Given the description of an element on the screen output the (x, y) to click on. 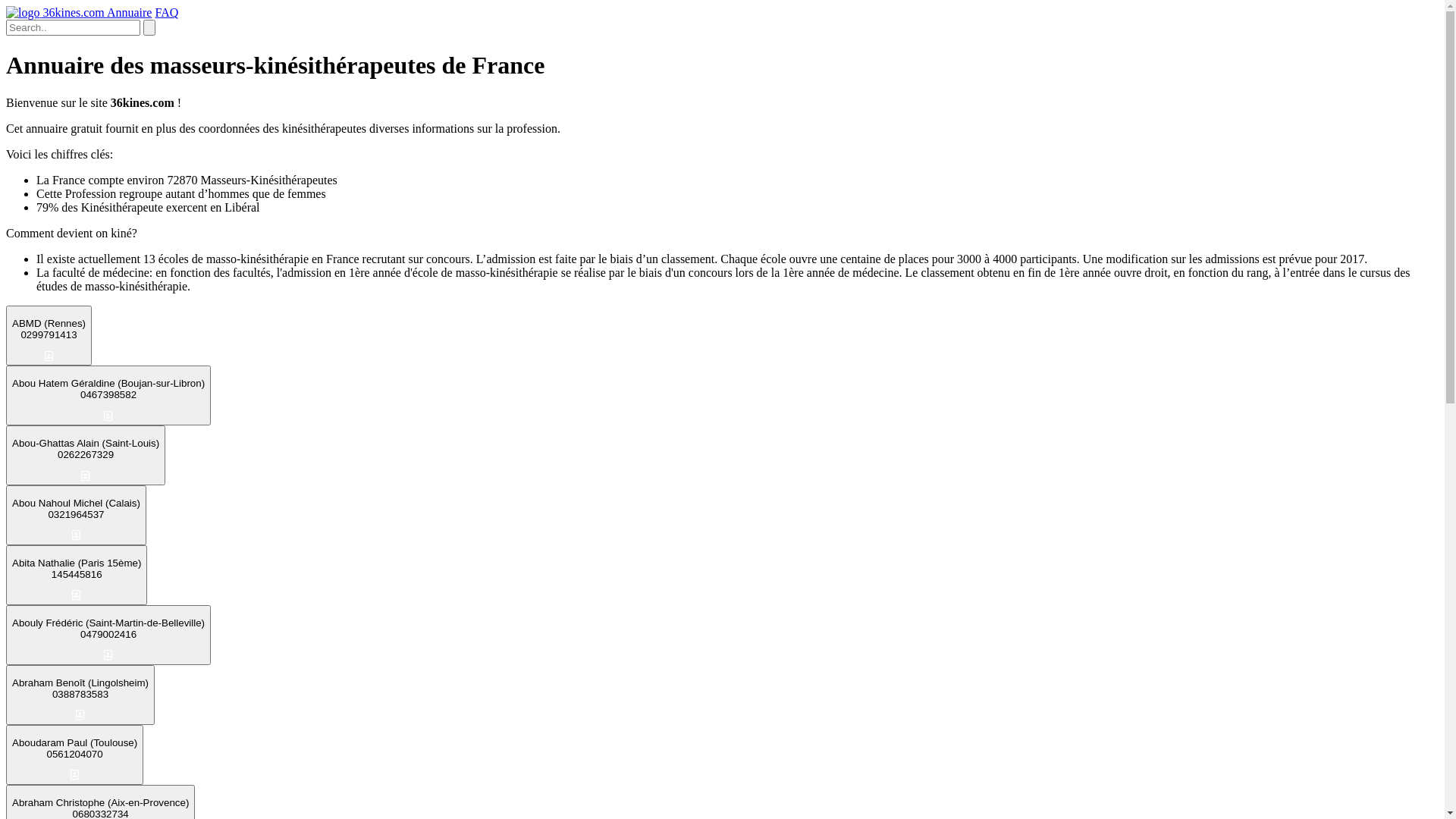
Annuaire Element type: text (129, 12)
36kines.com Element type: text (56, 12)
Aboudaram Paul (Toulouse)
0561204070 Element type: text (74, 754)
ABMD (Rennes)
0299791413 Element type: text (48, 335)
Abou-Ghattas Alain (Saint-Louis)
0262267329 Element type: text (85, 455)
FAQ Element type: text (166, 12)
Abou Nahoul Michel (Calais)
0321964537 Element type: text (76, 515)
